Given the description of an element on the screen output the (x, y) to click on. 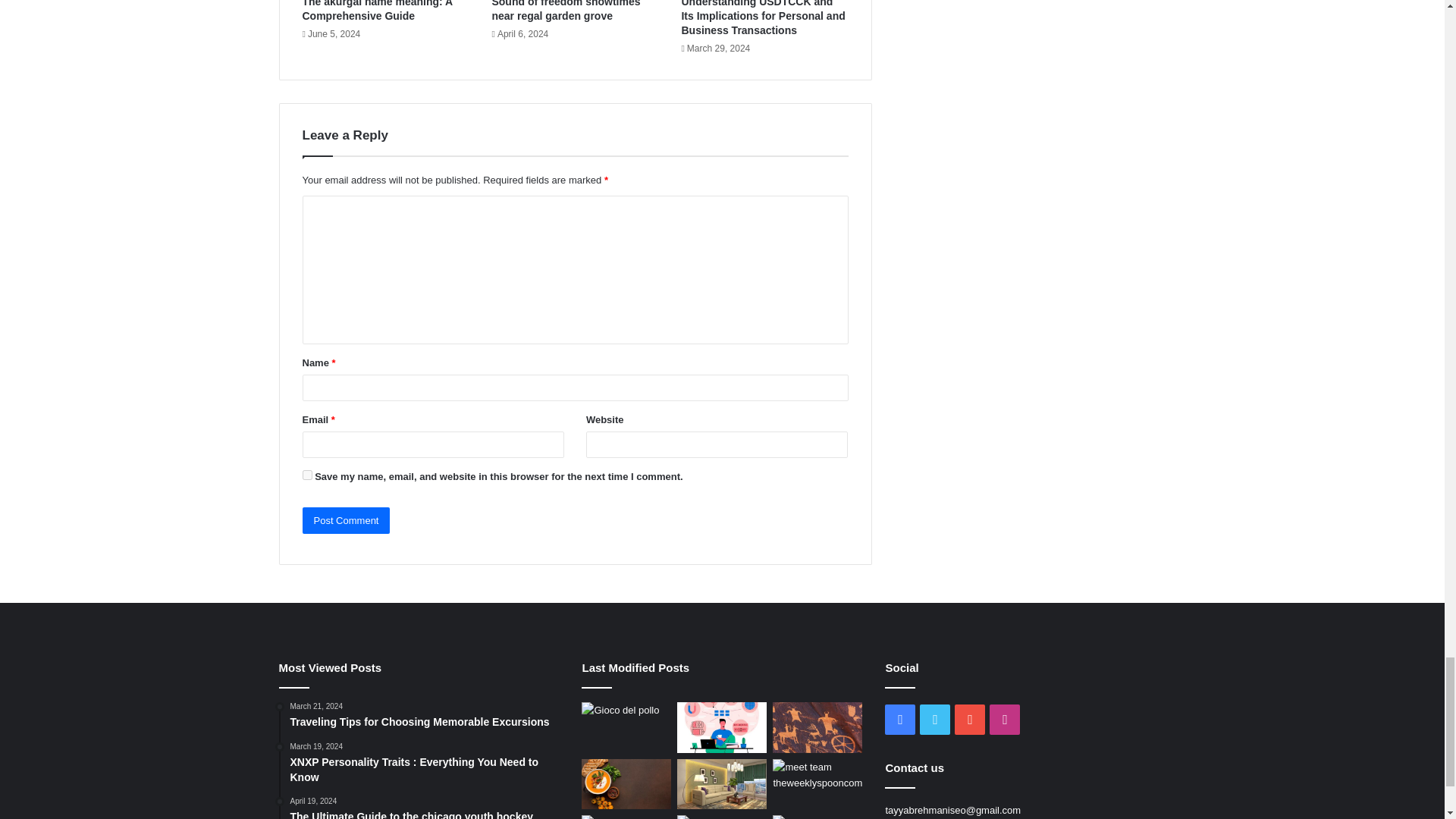
Post Comment (345, 519)
yes (306, 474)
